Given the description of an element on the screen output the (x, y) to click on. 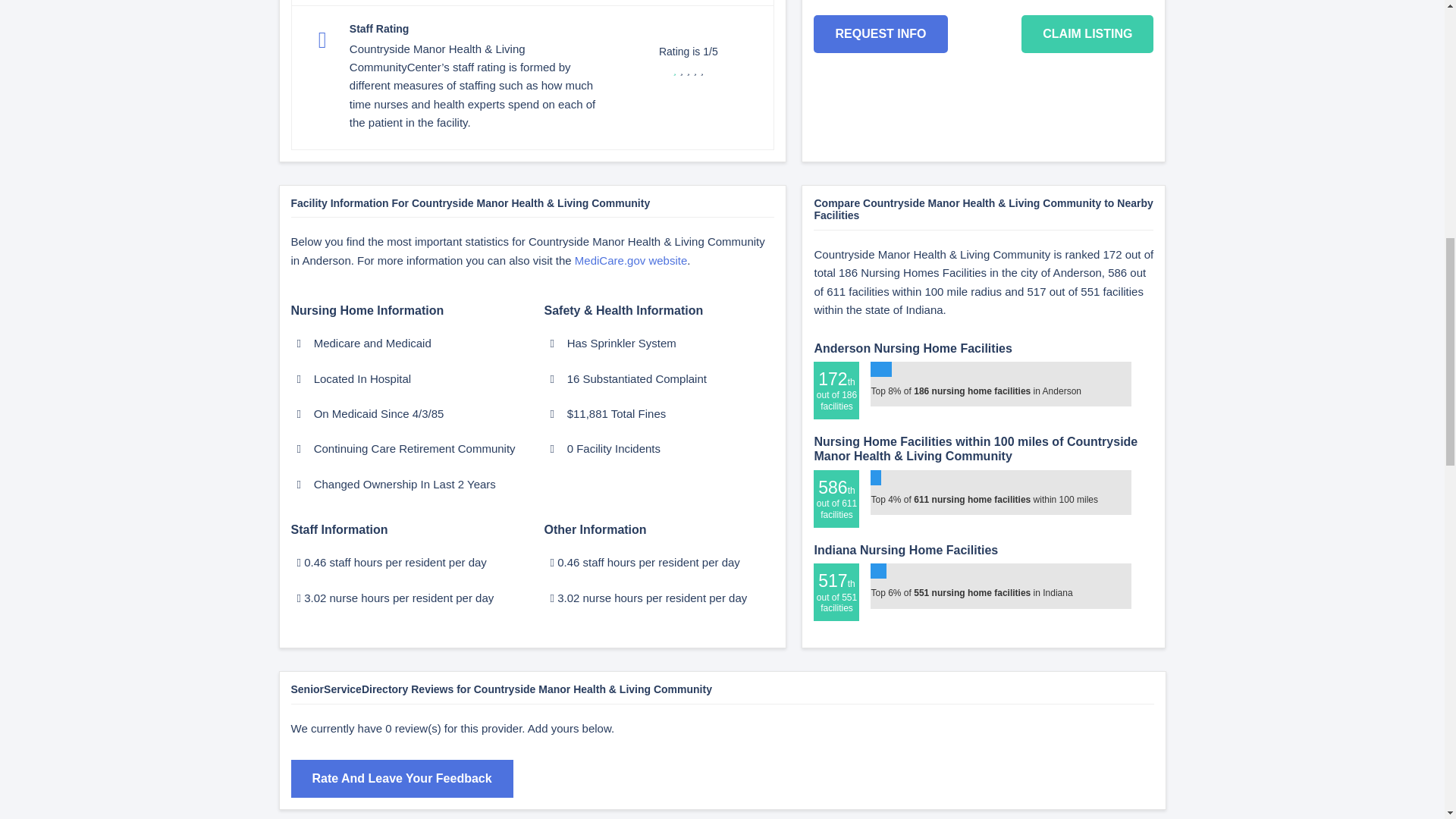
REQUEST INFO (880, 34)
MediCare.gov website (631, 259)
CLAIM LISTING (1087, 34)
Rate And Leave Your Feedback (402, 778)
